Given the description of an element on the screen output the (x, y) to click on. 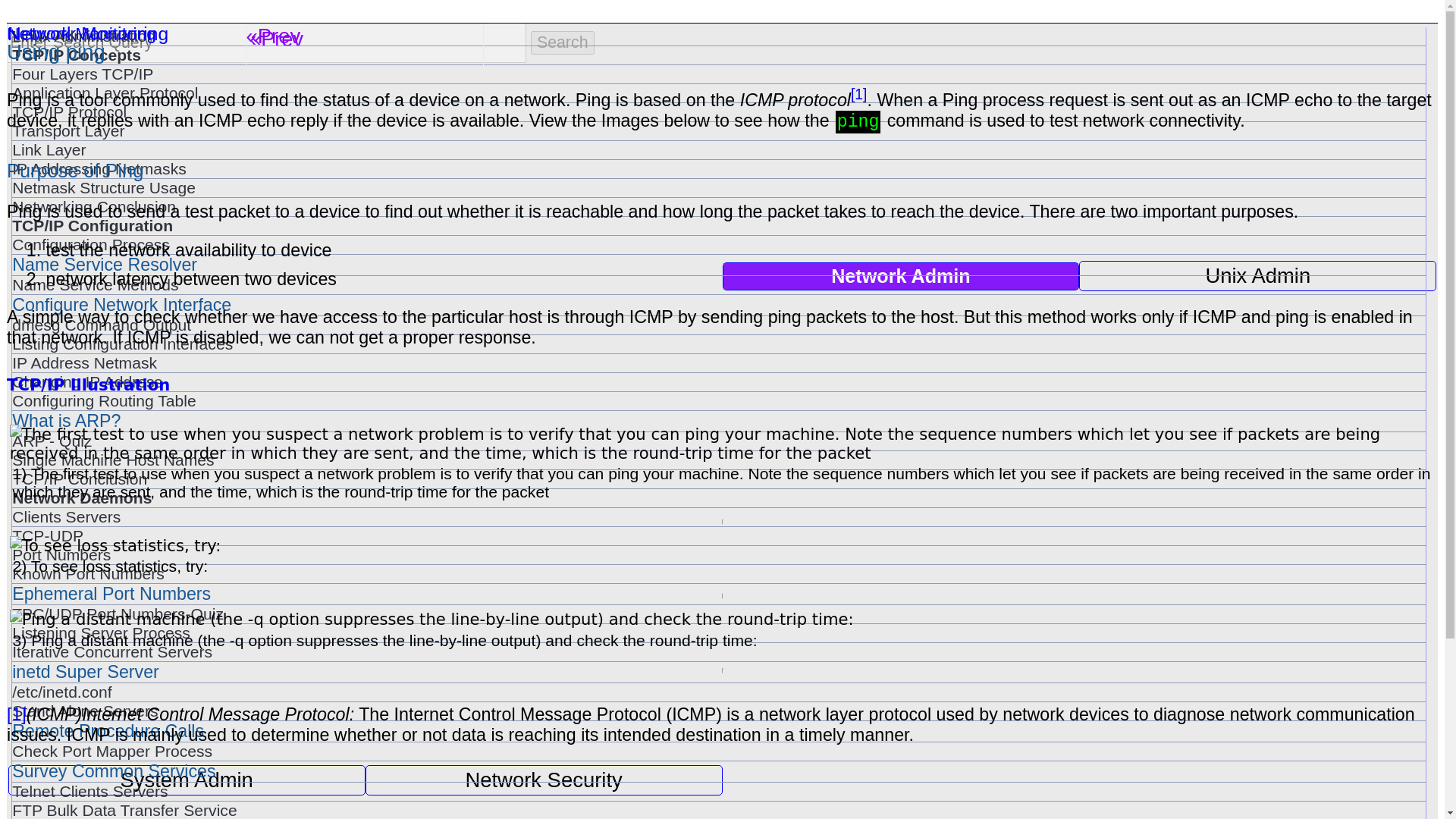
TCP-UDP (718, 536)
Clients Servers (718, 516)
Known Port Numbers (718, 574)
Networking Conclusion (718, 207)
Name Service Methods (718, 285)
Netmask Structure Usage (718, 188)
Listening Server Process (718, 633)
Network Admin (900, 275)
Single Machine Host Names (718, 460)
What is ARP? (718, 421)
